Given the description of an element on the screen output the (x, y) to click on. 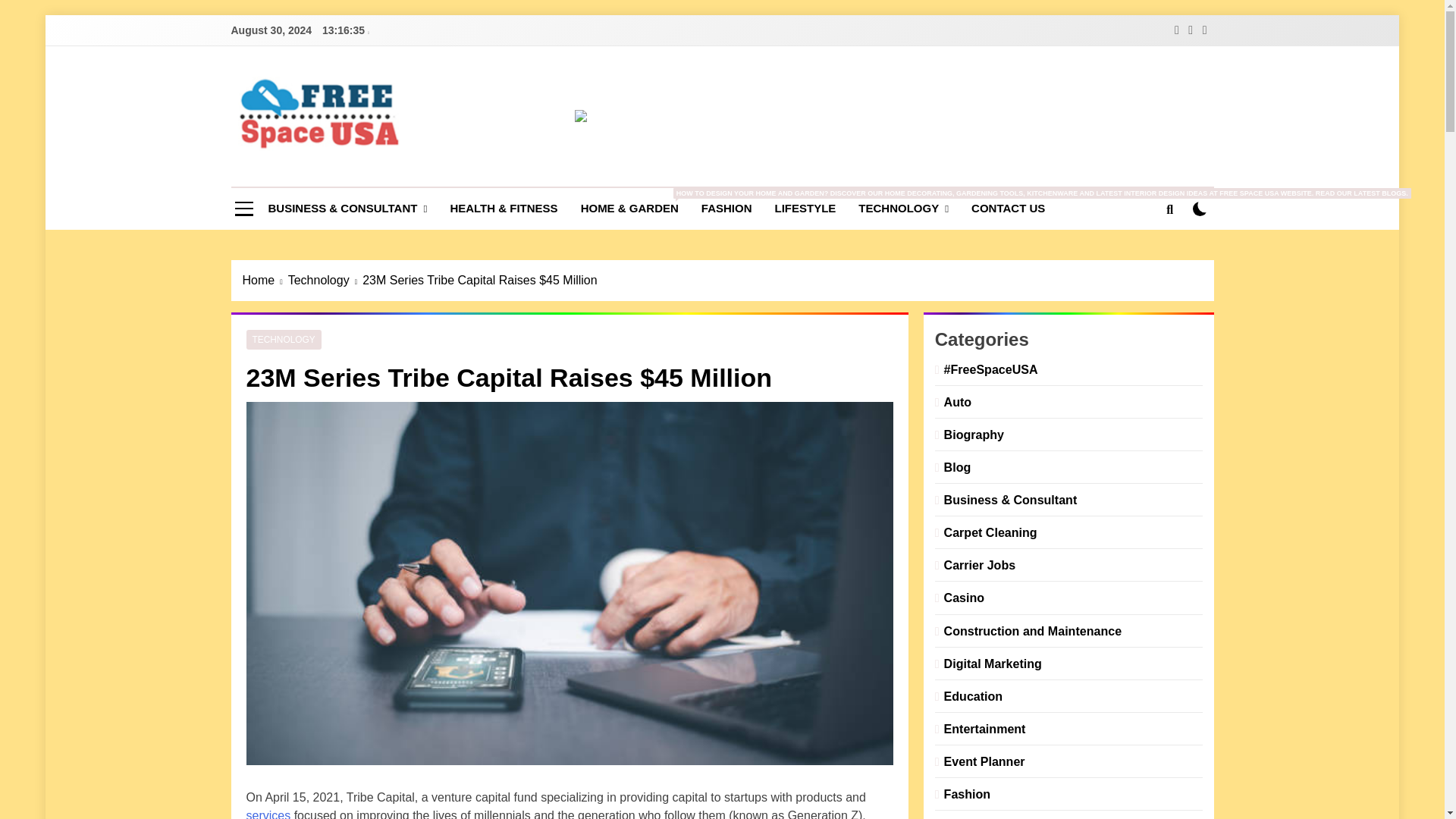
Free Space USA (379, 172)
on (1199, 208)
